Given the description of an element on the screen output the (x, y) to click on. 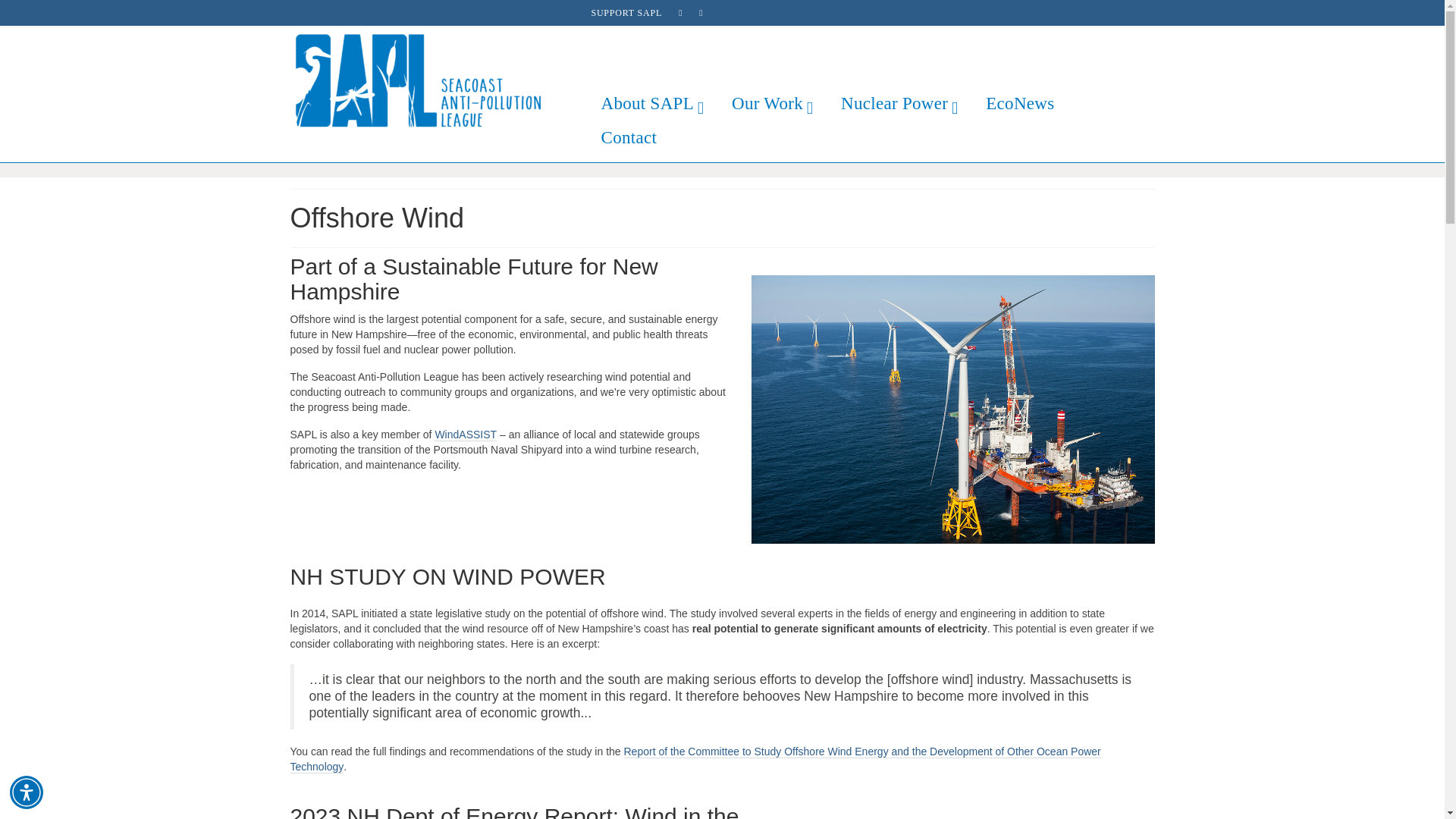
Contact (628, 137)
Accessibility Menu (26, 792)
Nuclear Power (898, 103)
Our Work (770, 103)
EcoNews (1019, 103)
SUPPORT SAPL (626, 12)
About SAPL (650, 103)
Seacoast Anti-Pollution League (428, 80)
